Given the description of an element on the screen output the (x, y) to click on. 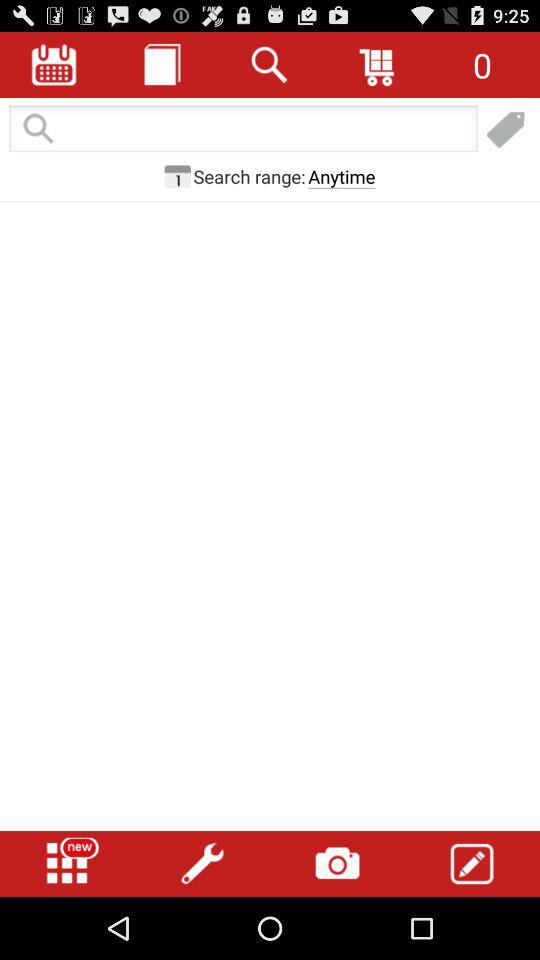
type a new search term (243, 130)
